Given the description of an element on the screen output the (x, y) to click on. 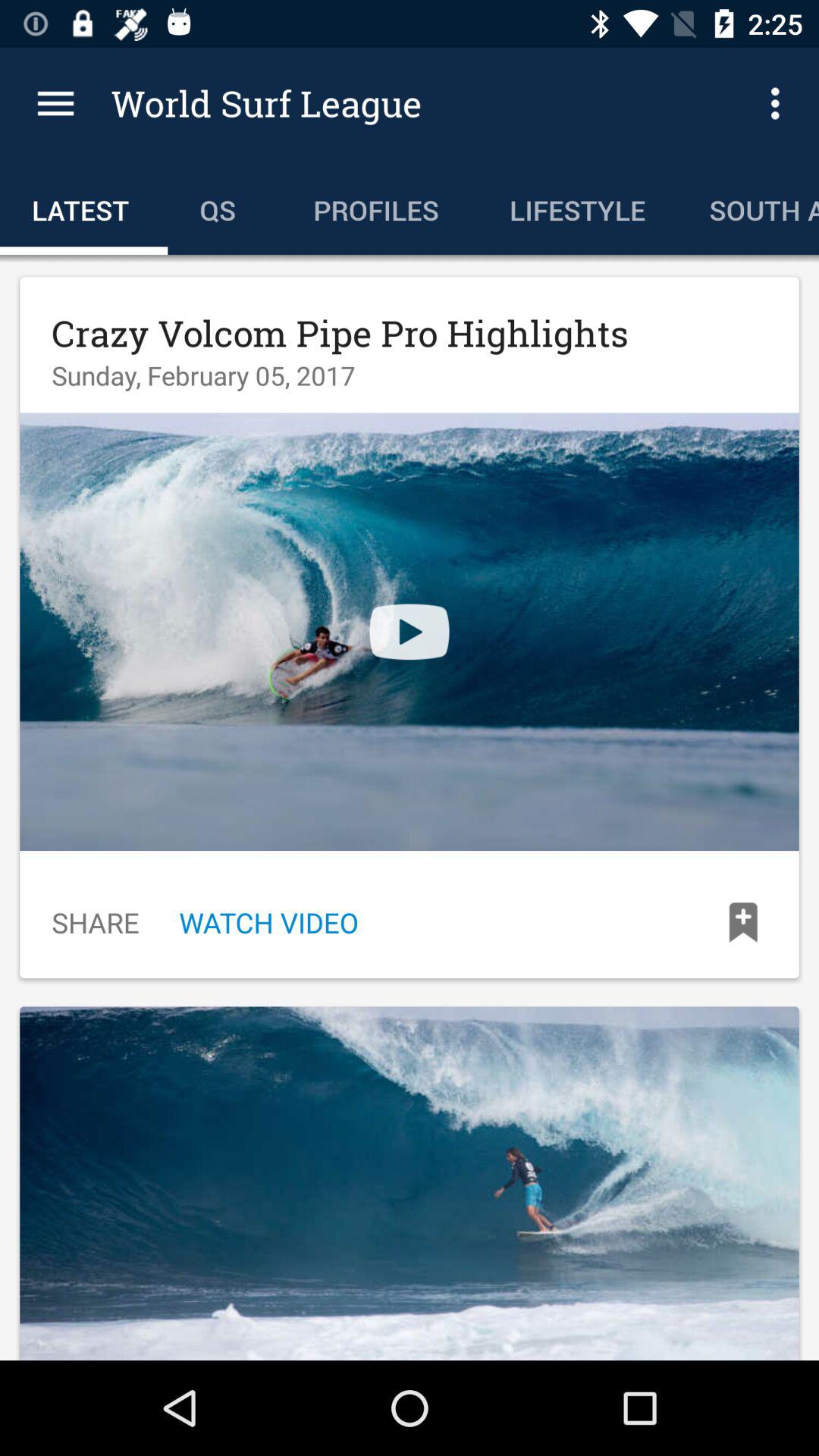
turn on the item next to the world surf league icon (55, 103)
